Given the description of an element on the screen output the (x, y) to click on. 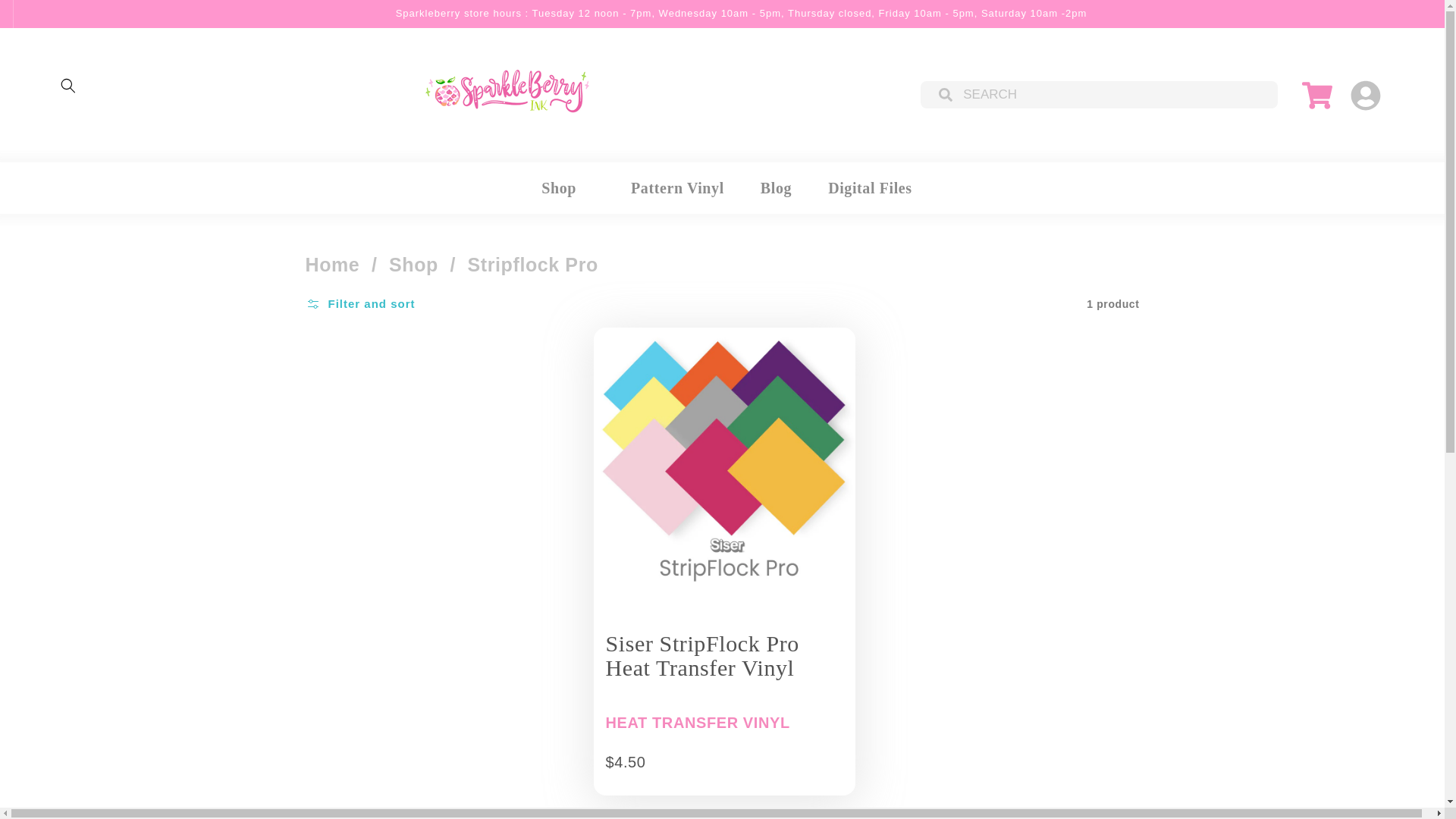
Skip to content (25, 7)
Log in (1367, 89)
